Given the description of an element on the screen output the (x, y) to click on. 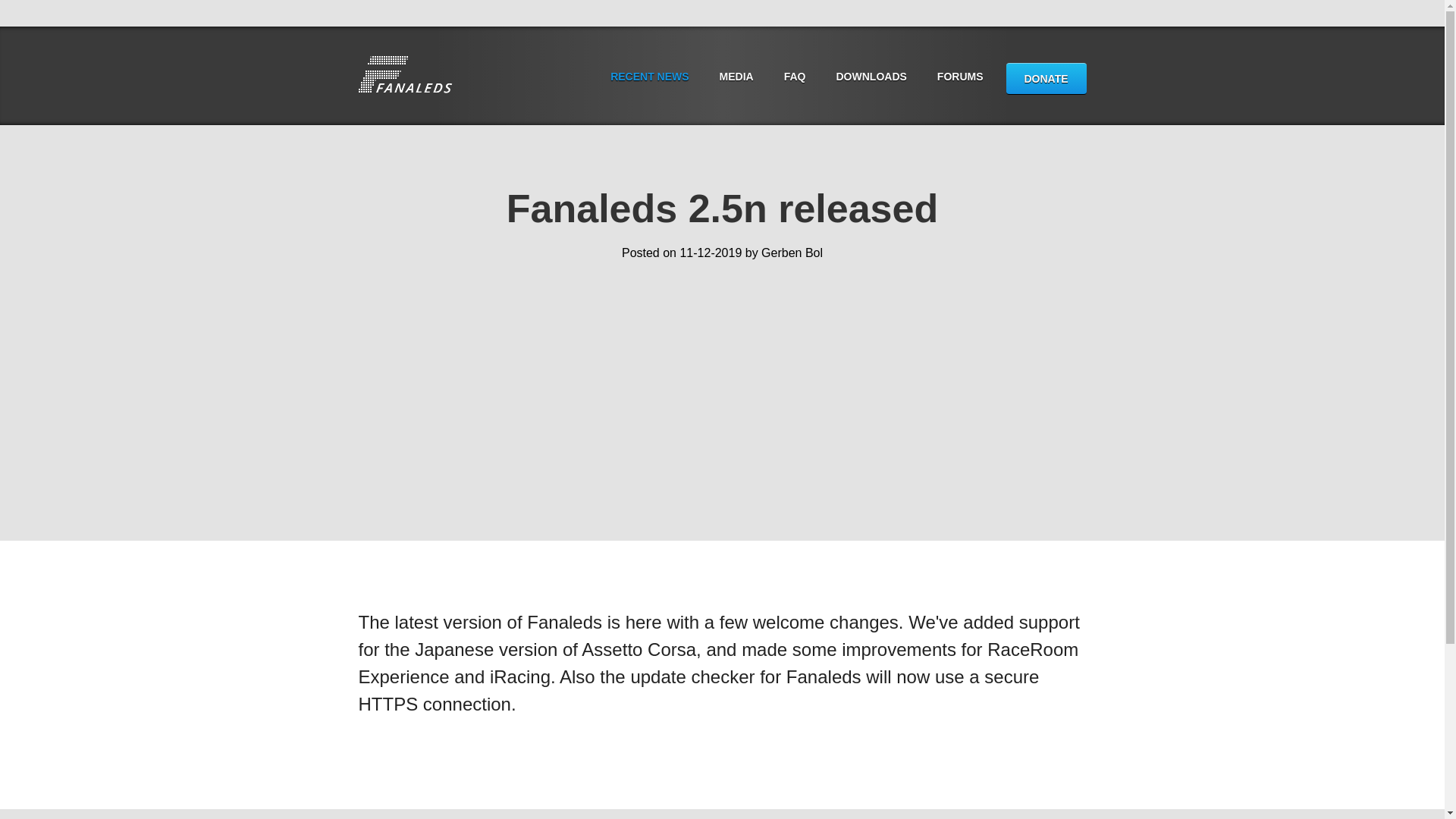
DONATE (1046, 79)
FORUMS (960, 76)
MEDIA (736, 76)
Donate (1046, 79)
Forums (960, 76)
Recent news (649, 76)
Media (736, 76)
Back to homepage (404, 76)
FAQ (795, 76)
Frequently Asked Questions (795, 76)
DOWNLOADS (870, 76)
RECENT NEWS (649, 76)
Downloads (870, 76)
